Given the description of an element on the screen output the (x, y) to click on. 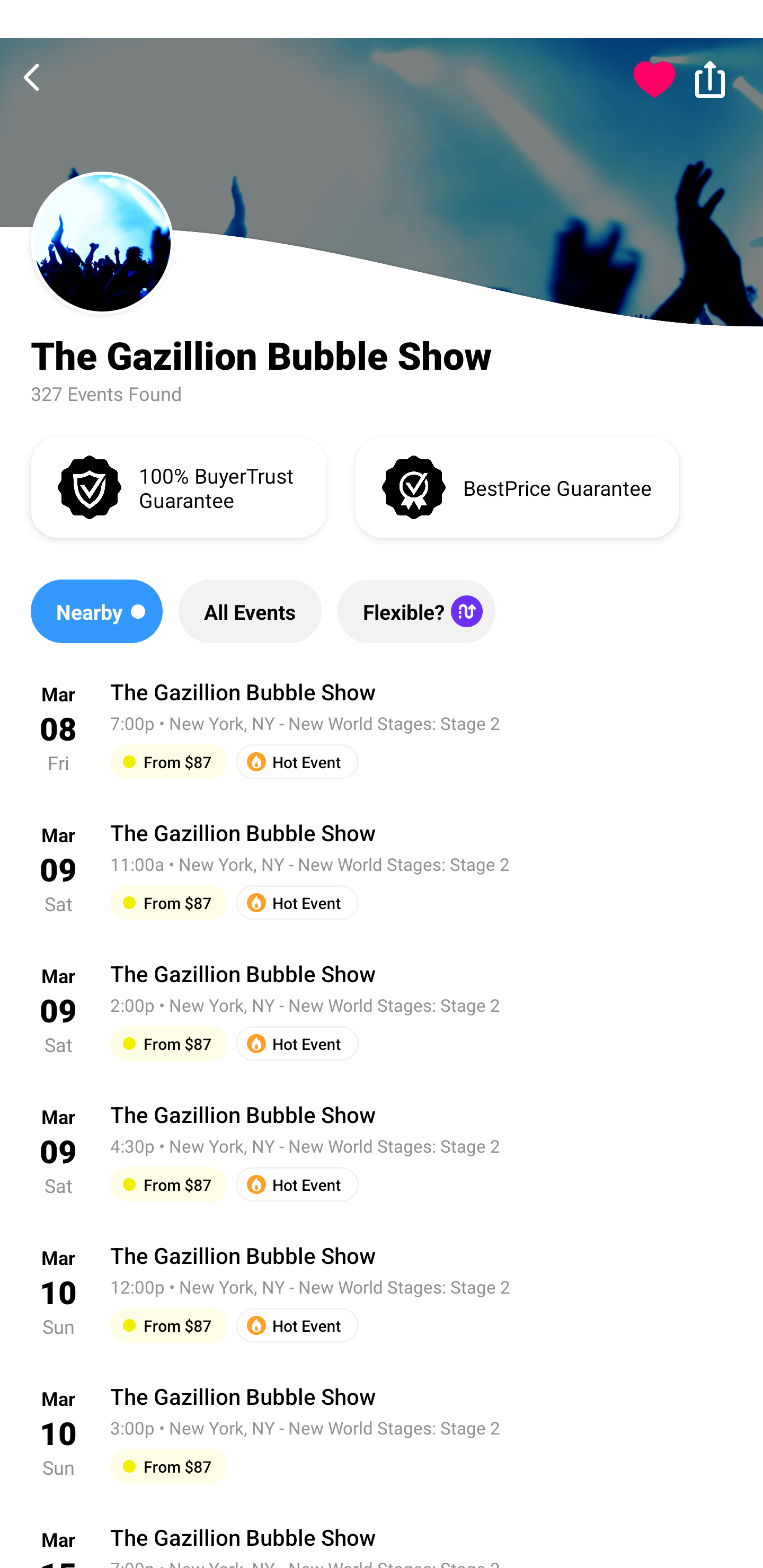
100% BuyerTrust Guarantee (178, 486)
BestPrice Guarantee (516, 486)
Nearby (96, 611)
All Events (249, 611)
Flexible? (416, 611)
